Given the description of an element on the screen output the (x, y) to click on. 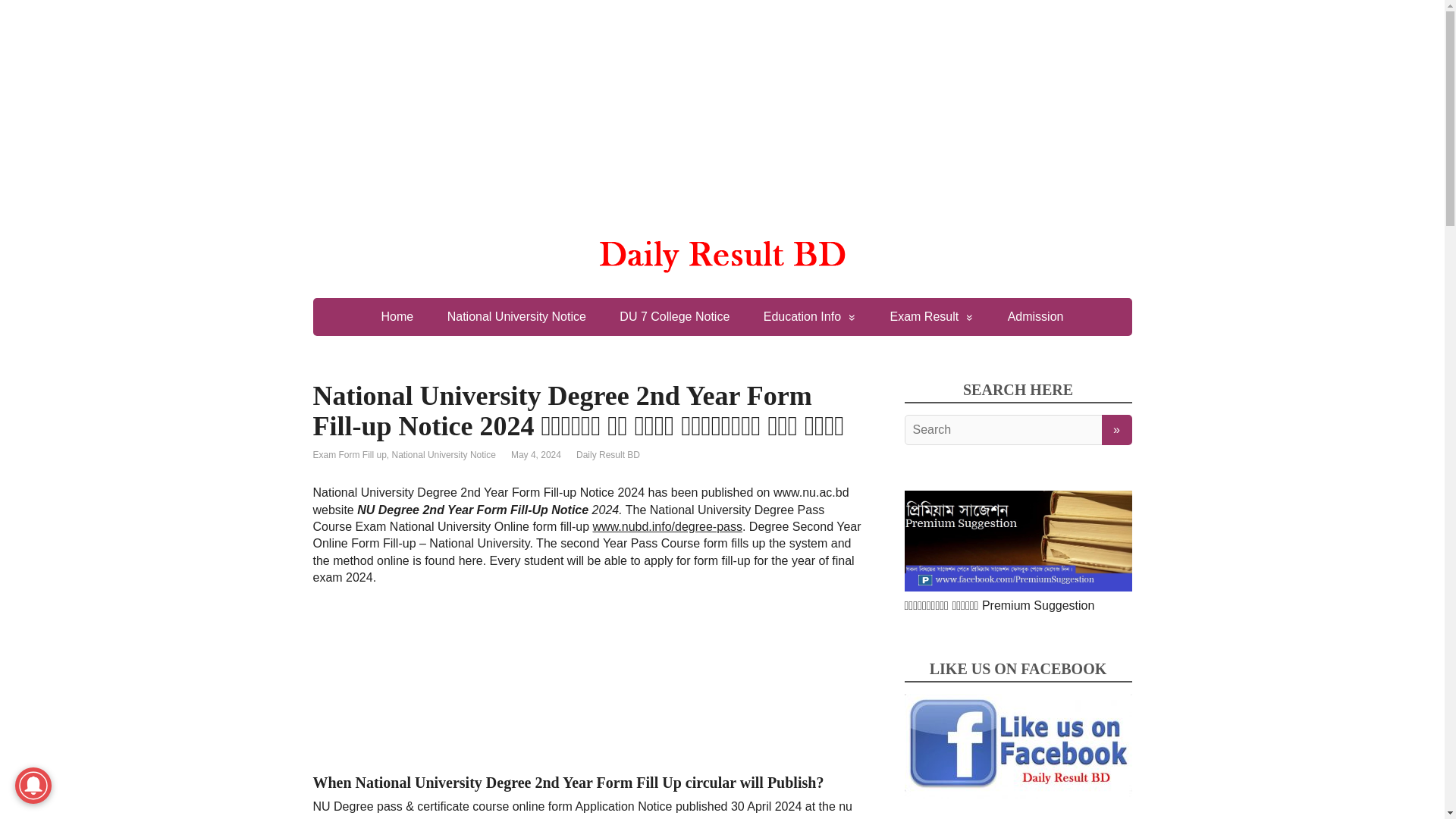
Like us On Facebook (1017, 746)
Advertisement (587, 674)
DU 7 College Notice (674, 316)
Admission (1035, 316)
Home (397, 316)
Education Info (809, 316)
National University Notice (516, 316)
Exam Form Fill up (349, 454)
Exam Result (931, 316)
